Given the description of an element on the screen output the (x, y) to click on. 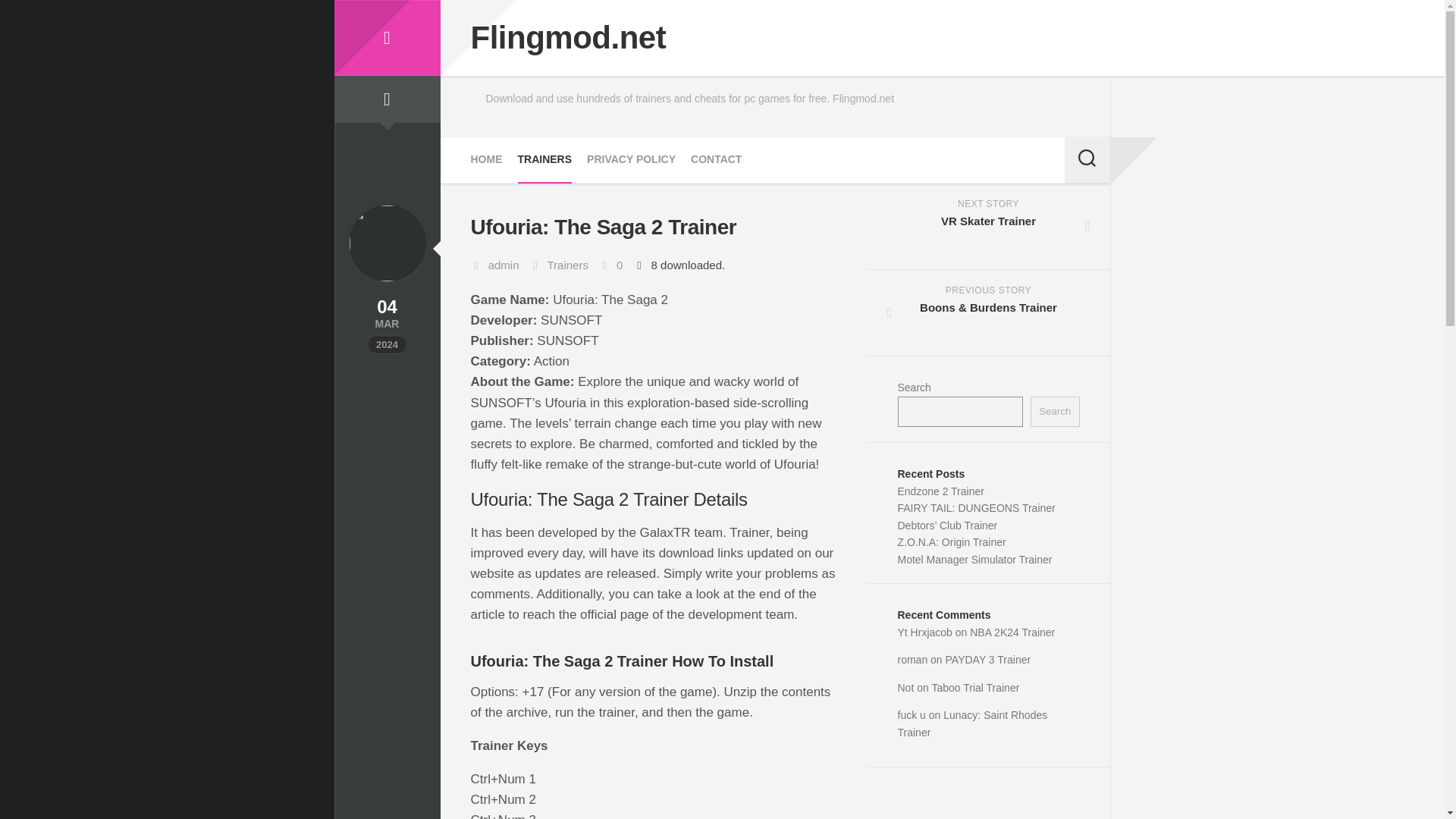
Search (1054, 410)
admin (503, 264)
Z.O.N.A: Origin Trainer (952, 541)
Motel Manager Simulator Trainer (975, 559)
NBA 2K24 Trainer (1011, 632)
Trainers (567, 264)
Flingmod.net (386, 38)
CONTACT (715, 159)
FAIRY TAIL: DUNGEONS Trainer (976, 508)
Endzone 2 Trainer (941, 491)
